Given the description of an element on the screen output the (x, y) to click on. 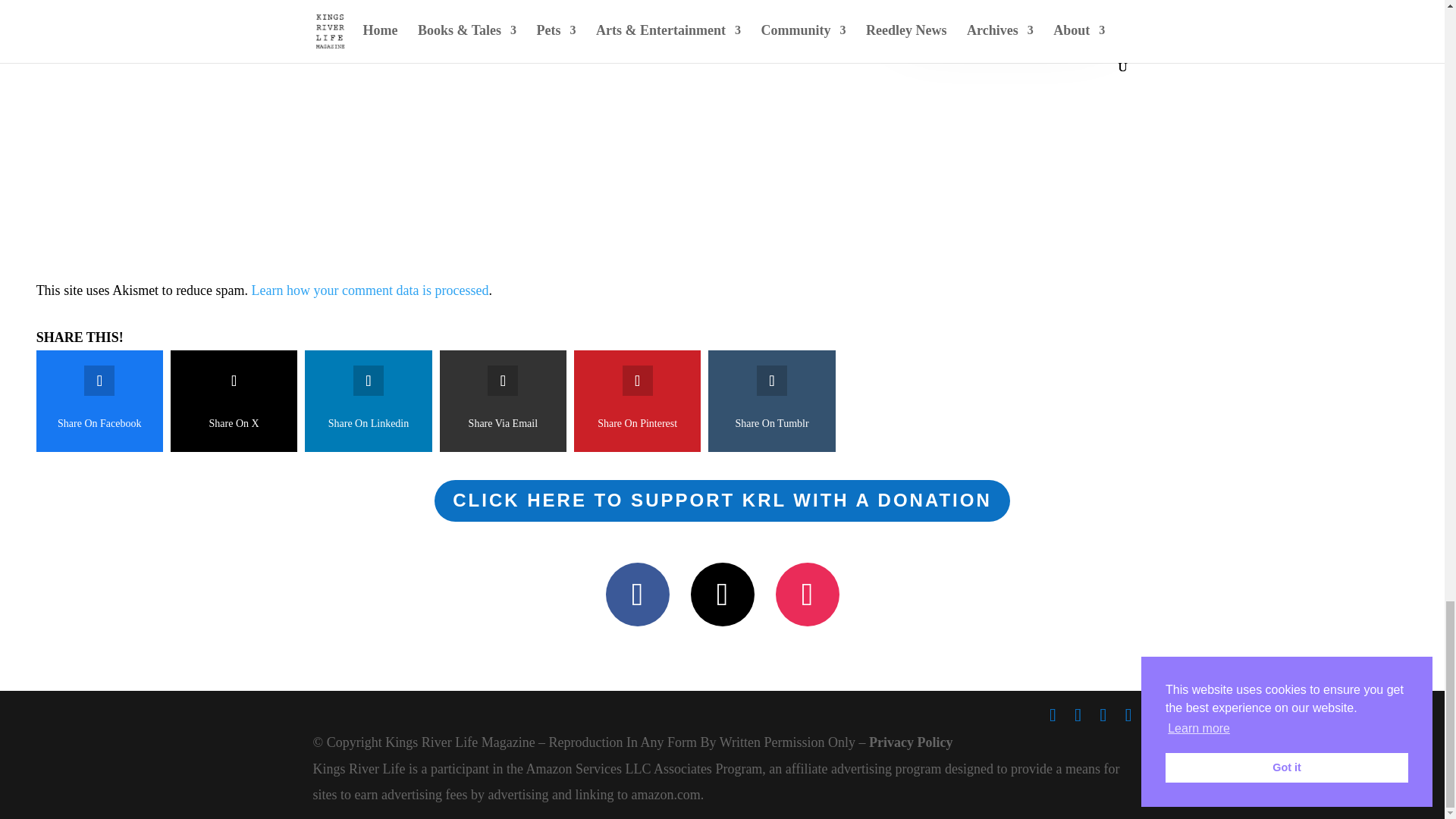
Follow on Facebook (636, 594)
Follow on Instagram (806, 594)
Follow on X (722, 594)
